Given the description of an element on the screen output the (x, y) to click on. 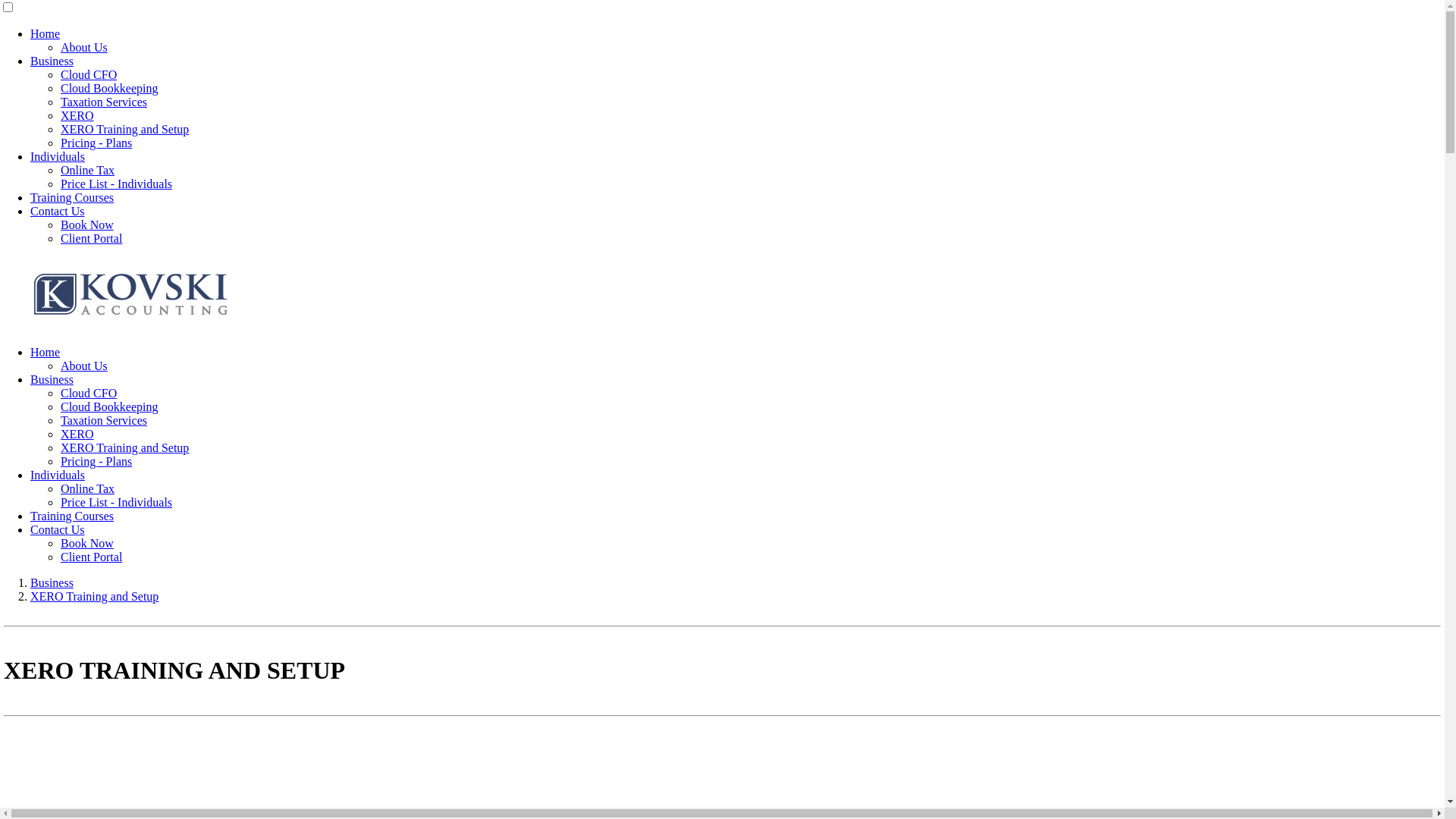
XERO Element type: text (77, 433)
Contact Us Element type: text (57, 529)
Price List - Individuals Element type: text (116, 183)
Online Tax Element type: text (87, 488)
About Us Element type: text (83, 46)
Cloud CFO Element type: text (88, 74)
Cloud CFO Element type: text (88, 392)
Home Element type: text (44, 351)
Client Portal Element type: text (91, 238)
Home Element type: text (44, 33)
Individuals Element type: text (57, 474)
Book Now Element type: text (86, 224)
Business Element type: text (51, 582)
Online Tax Element type: text (87, 169)
Training Courses Element type: text (71, 197)
XERO Training and Setup Element type: text (94, 595)
Cloud Bookkeeping Element type: text (108, 87)
Book Now Element type: text (86, 542)
Pricing - Plans Element type: text (95, 461)
XERO Training and Setup Element type: text (124, 447)
Price List - Individuals Element type: text (116, 501)
Individuals Element type: text (57, 156)
Pricing - Plans Element type: text (95, 142)
About Us Element type: text (83, 365)
Taxation Services Element type: text (103, 420)
Cloud Bookkeeping Element type: text (108, 406)
Contact Us Element type: text (57, 210)
Business Element type: text (51, 379)
Client Portal Element type: text (91, 556)
XERO Element type: text (77, 115)
Business Element type: text (51, 60)
Taxation Services Element type: text (103, 101)
XERO Training and Setup Element type: text (124, 128)
Training Courses Element type: text (71, 515)
